Given the description of an element on the screen output the (x, y) to click on. 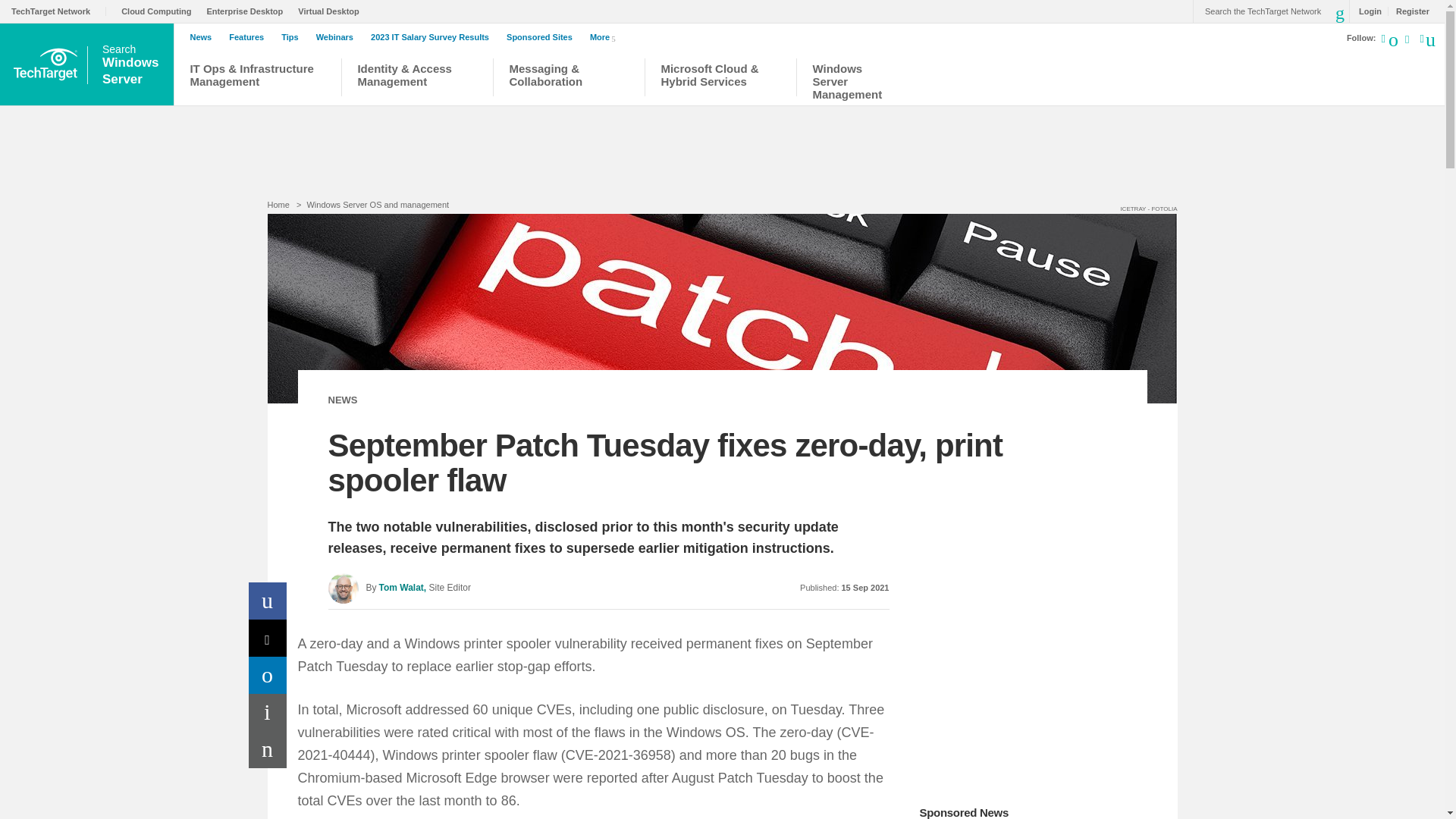
News (204, 36)
TechTarget Network (58, 10)
Home (277, 204)
Share on Facebook (267, 600)
Windows Server Management (853, 79)
Virtual Desktop (332, 10)
Share on LinkedIn (267, 674)
Tips (293, 36)
More (605, 36)
Print This Page (267, 712)
Features (249, 36)
Register (1408, 10)
Share on X (267, 637)
Email a Friend (267, 749)
